Given the description of an element on the screen output the (x, y) to click on. 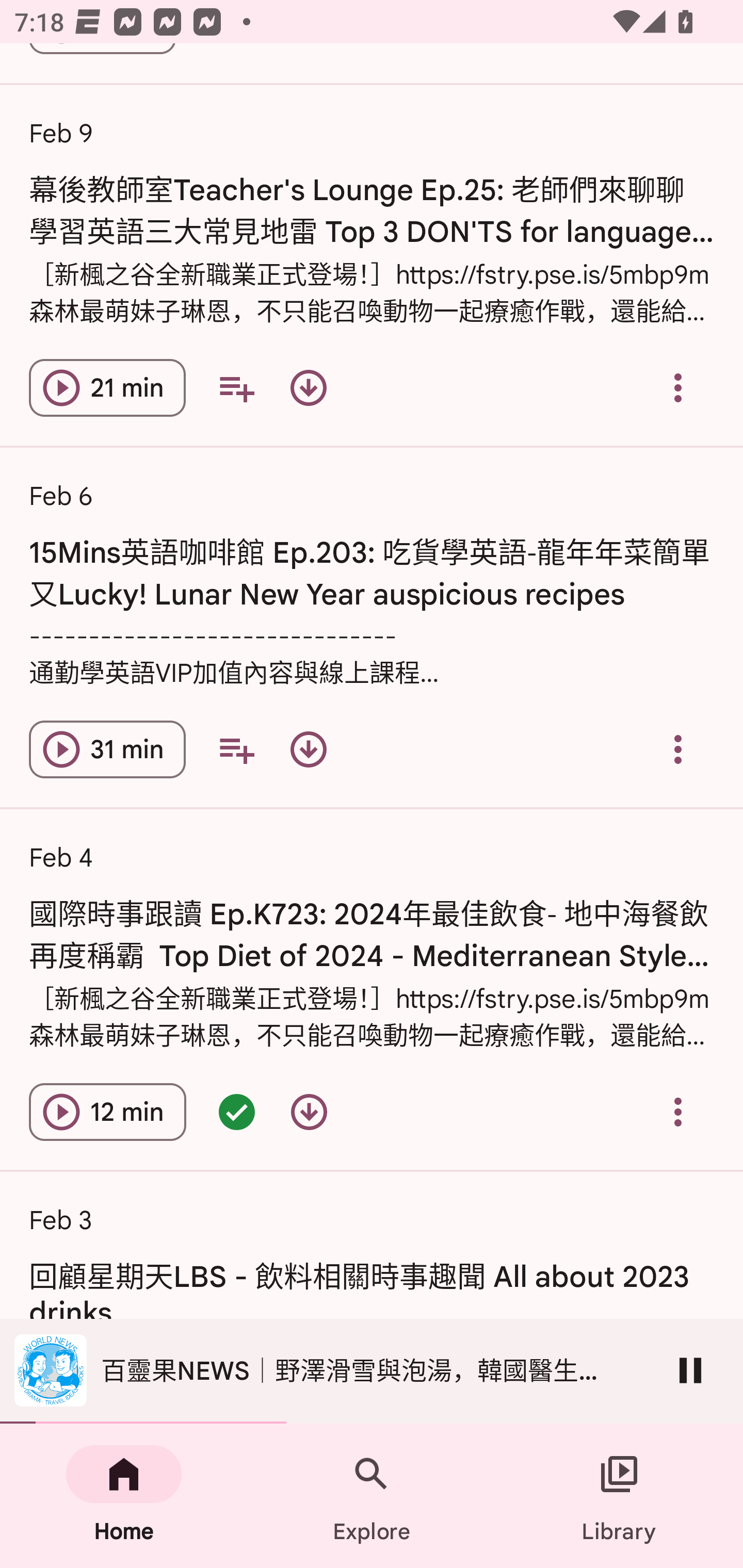
Add to your queue (235, 387)
Download episode (308, 387)
Overflow menu (677, 387)
Add to your queue (235, 749)
Download episode (308, 749)
Overflow menu (677, 749)
Episode queued - double tap for options (236, 1112)
Download episode (308, 1112)
Overflow menu (677, 1112)
Pause (690, 1370)
Explore (371, 1495)
Library (619, 1495)
